Given the description of an element on the screen output the (x, y) to click on. 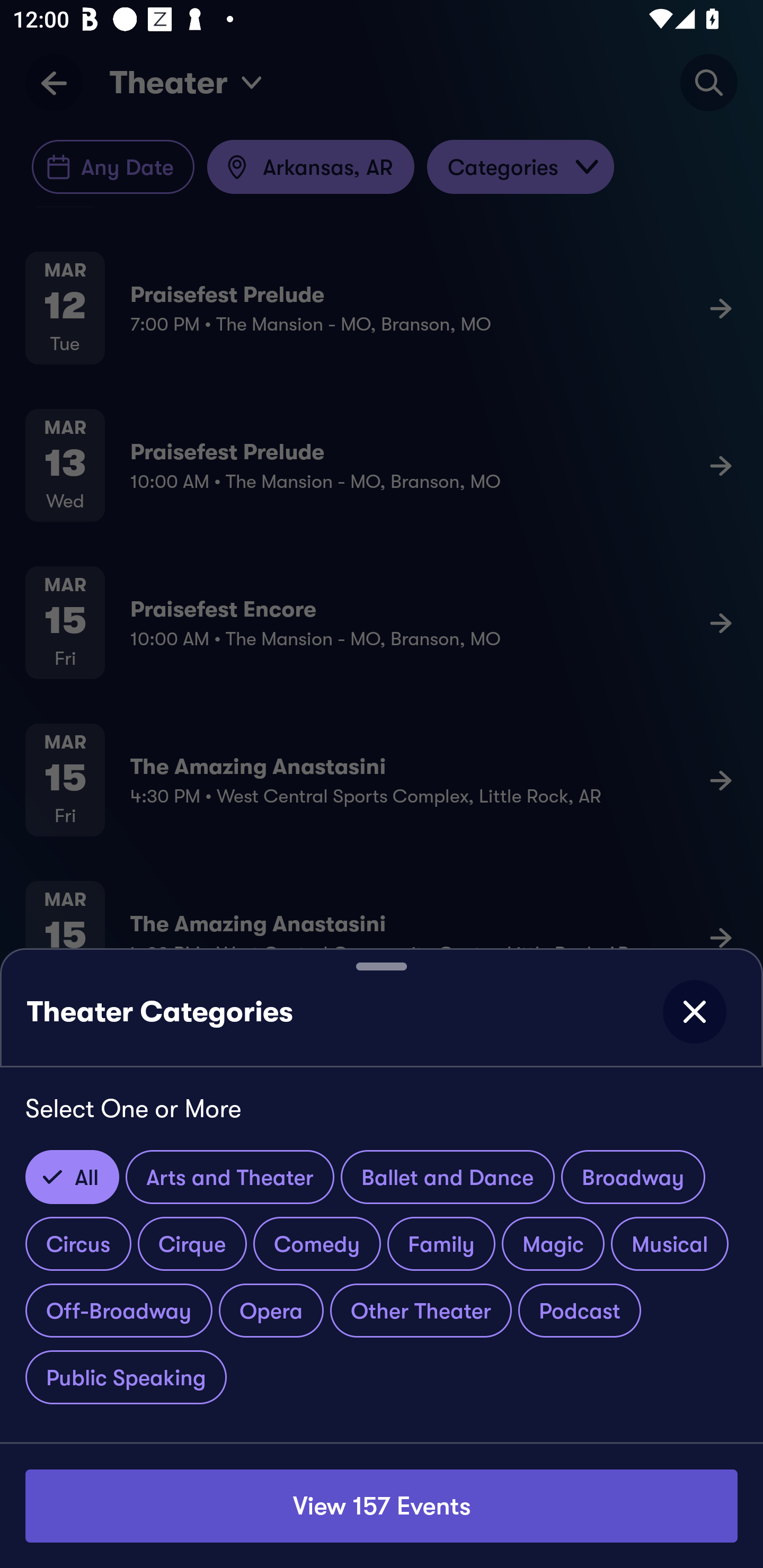
close (694, 1012)
All (71, 1176)
Arts and Theater (229, 1176)
Ballet and Dance (447, 1176)
Broadway (633, 1176)
Circus (77, 1243)
Cirque (192, 1243)
Comedy (316, 1243)
Family (441, 1243)
Magic (552, 1243)
Musical (669, 1243)
Off-Broadway (118, 1310)
Opera (270, 1310)
Other Theater (420, 1310)
Podcast (579, 1310)
Public Speaking (125, 1377)
View 157 Events (381, 1505)
